Given the description of an element on the screen output the (x, y) to click on. 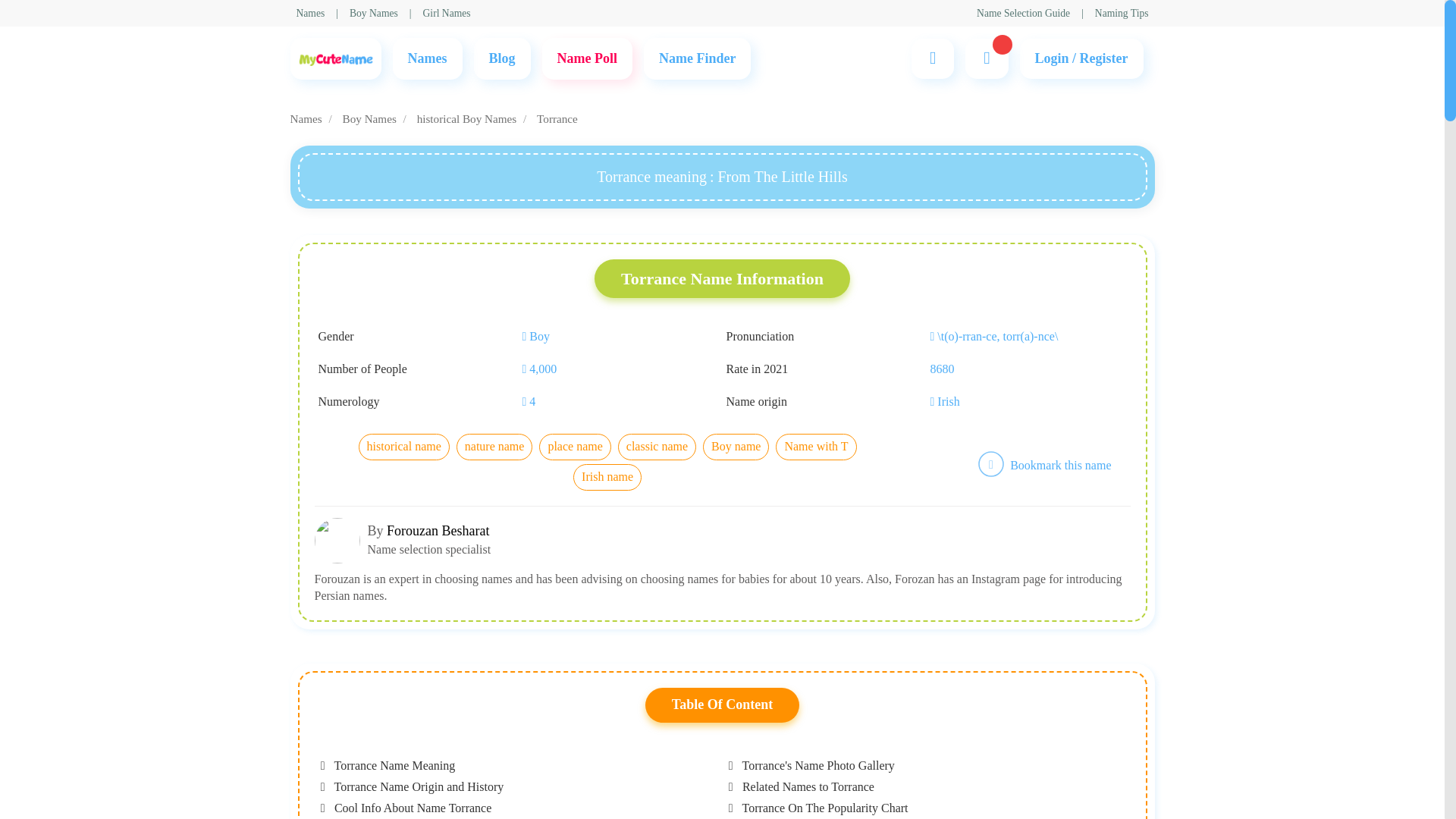
Greek girl's name (511, 254)
Names (309, 12)
Boy Names (532, 254)
Name Poll (586, 58)
Name Finder (697, 58)
Girl names (446, 12)
English boy's name (515, 254)
Latin girl's name (509, 254)
American girl's name (520, 254)
Hebrew boy's name (516, 254)
